Given the description of an element on the screen output the (x, y) to click on. 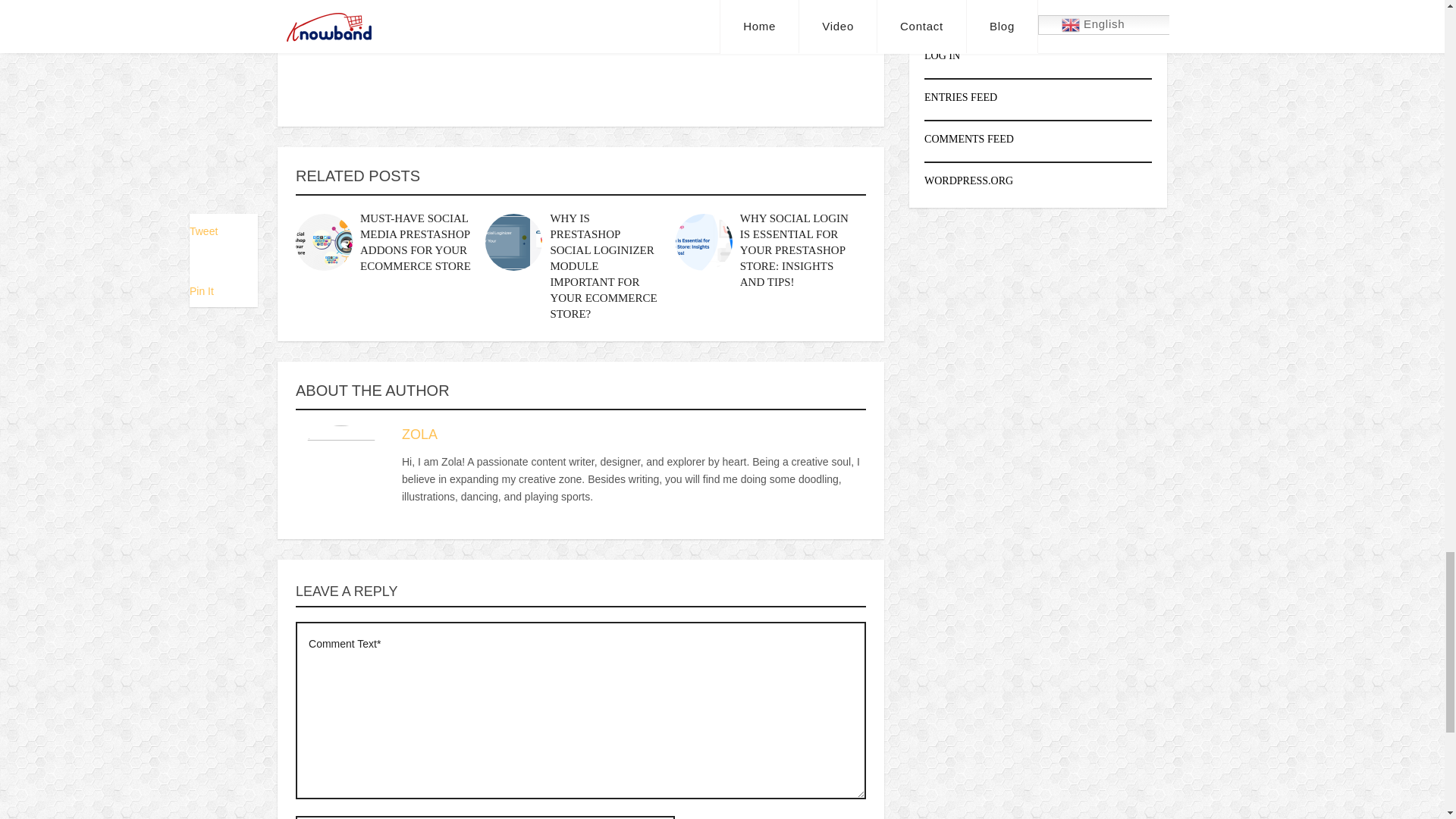
ZOLA (419, 434)
Prestashop Social Login Module - Video Tutorial (580, 48)
